Given the description of an element on the screen output the (x, y) to click on. 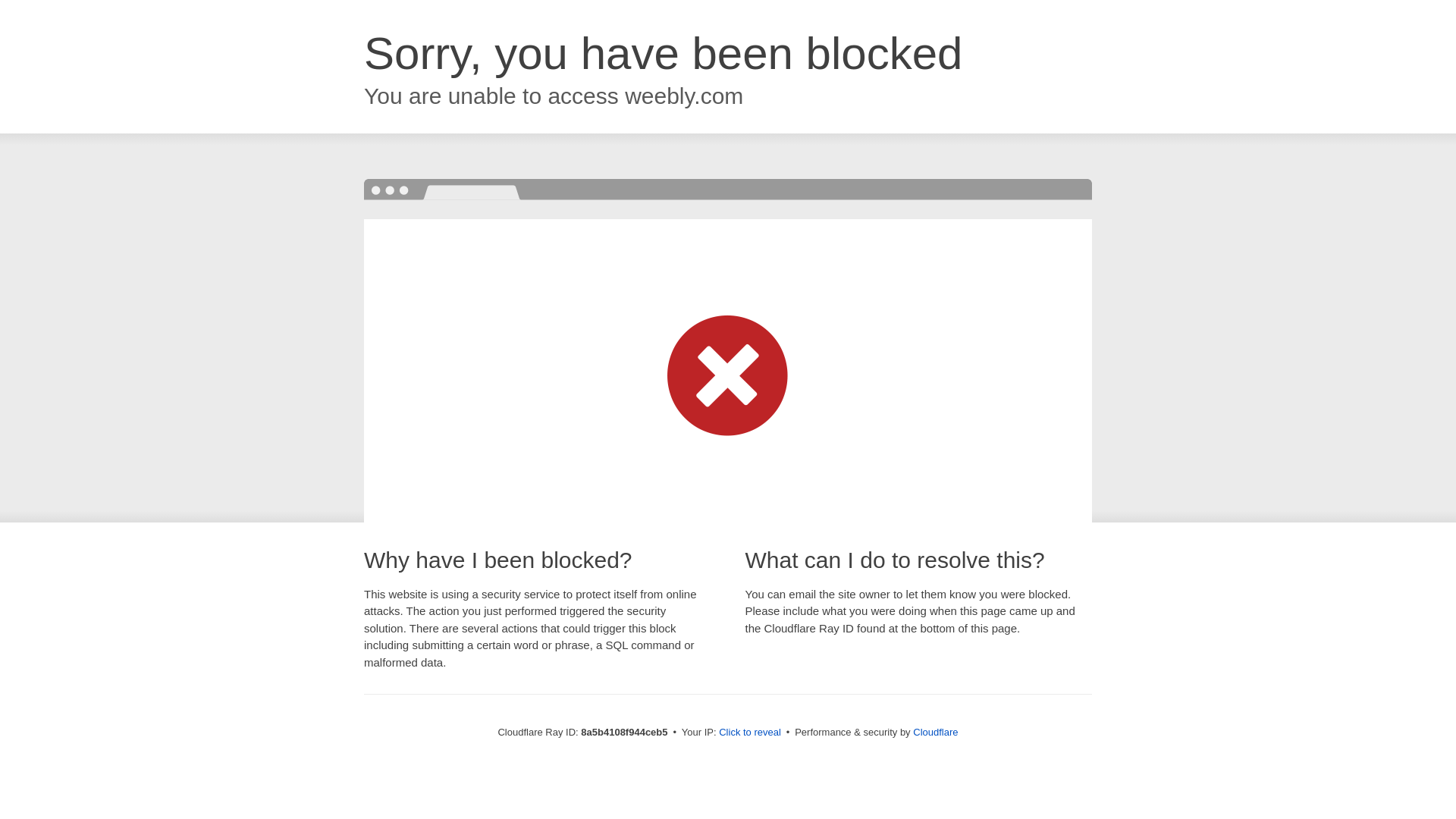
Cloudflare (935, 731)
Click to reveal (749, 732)
